Given the description of an element on the screen output the (x, y) to click on. 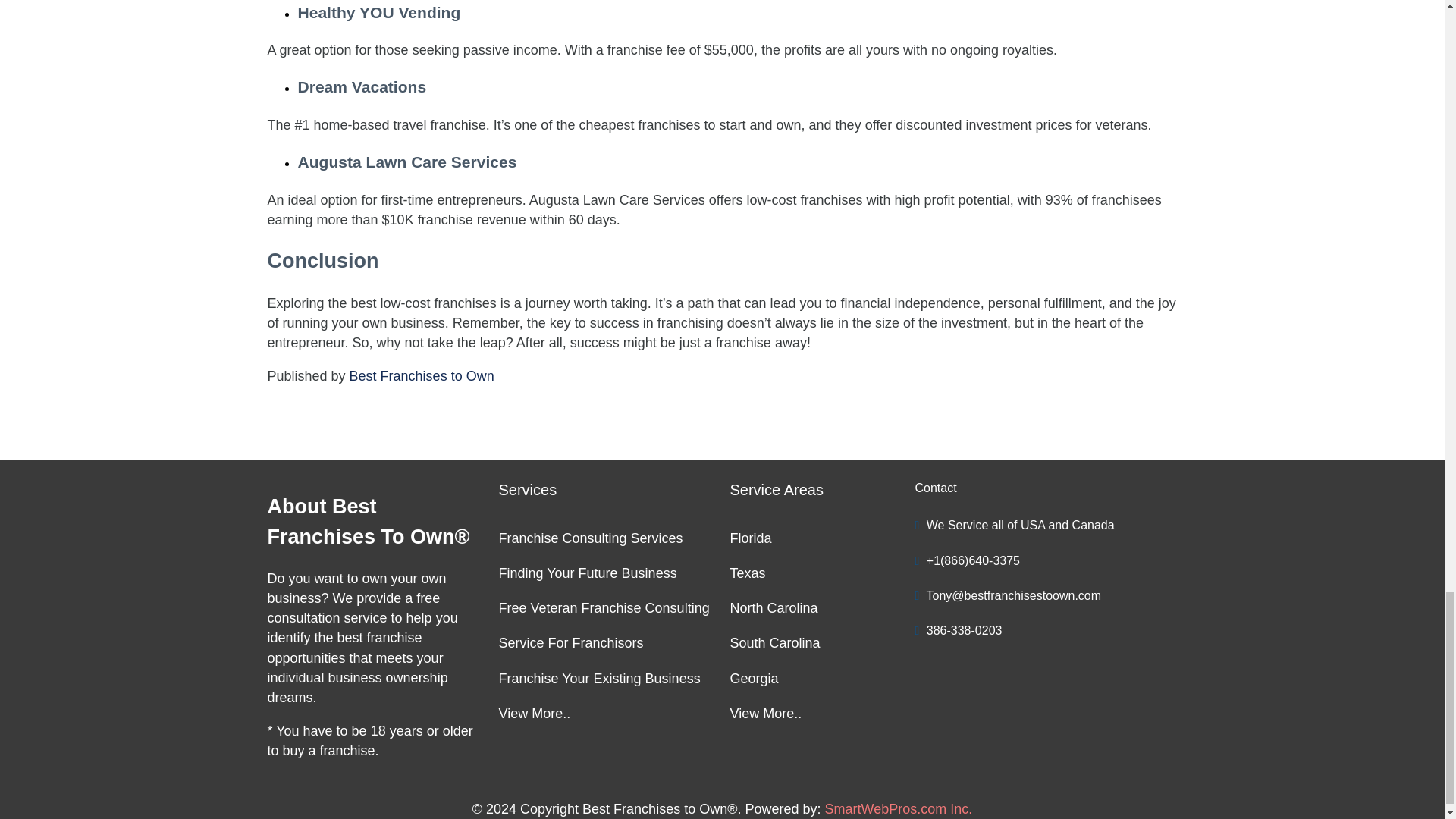
Franchise Consulting Services (606, 542)
Best Franchises to Own (422, 376)
Finding Your Future Business (606, 576)
